Given the description of an element on the screen output the (x, y) to click on. 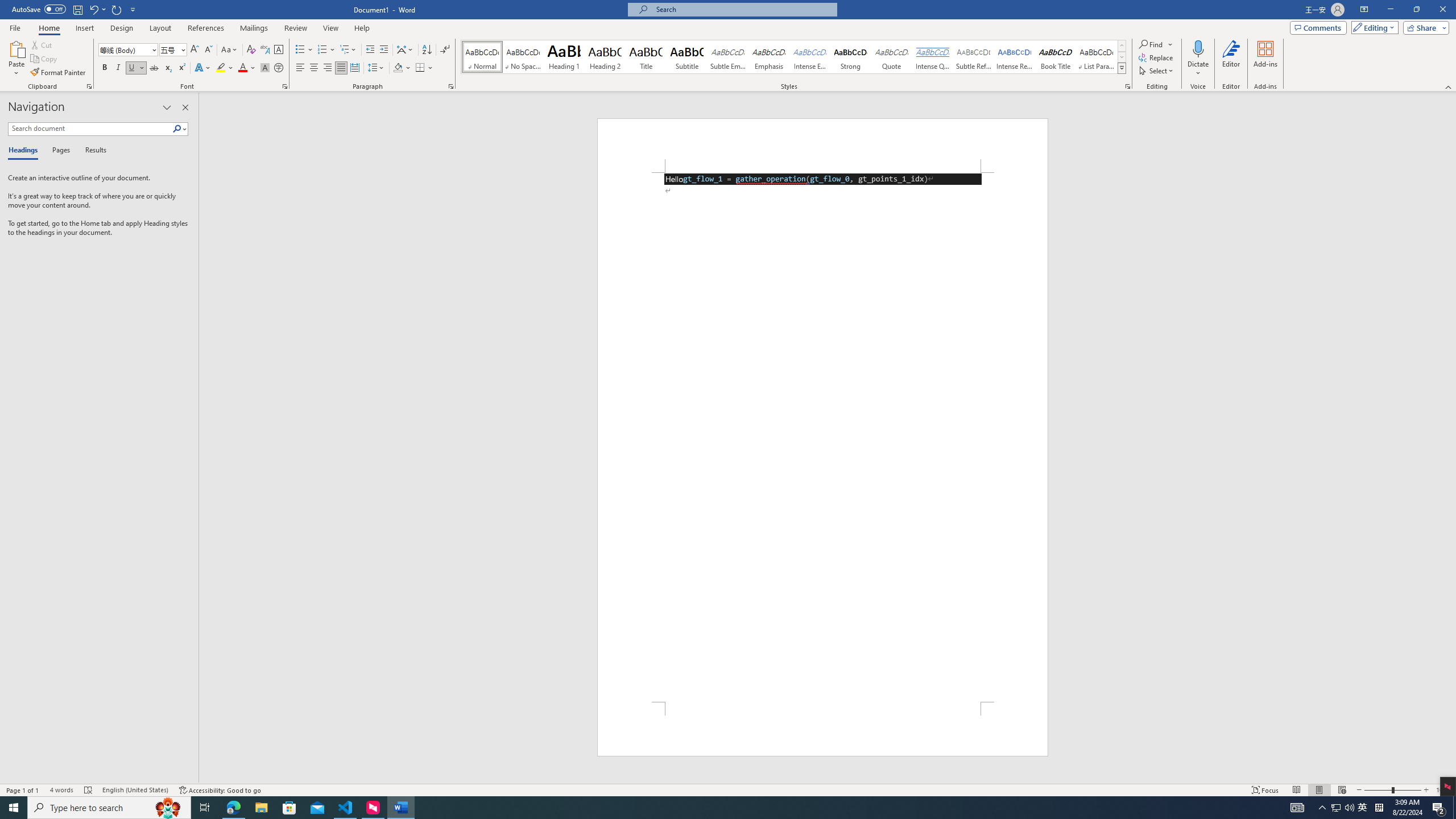
Collapse the Ribbon (1448, 86)
Asian Layout (405, 49)
Bold (104, 67)
Character Border (278, 49)
Italic (118, 67)
Results (91, 150)
Heading 1 (564, 56)
Align Left (300, 67)
